Given the description of an element on the screen output the (x, y) to click on. 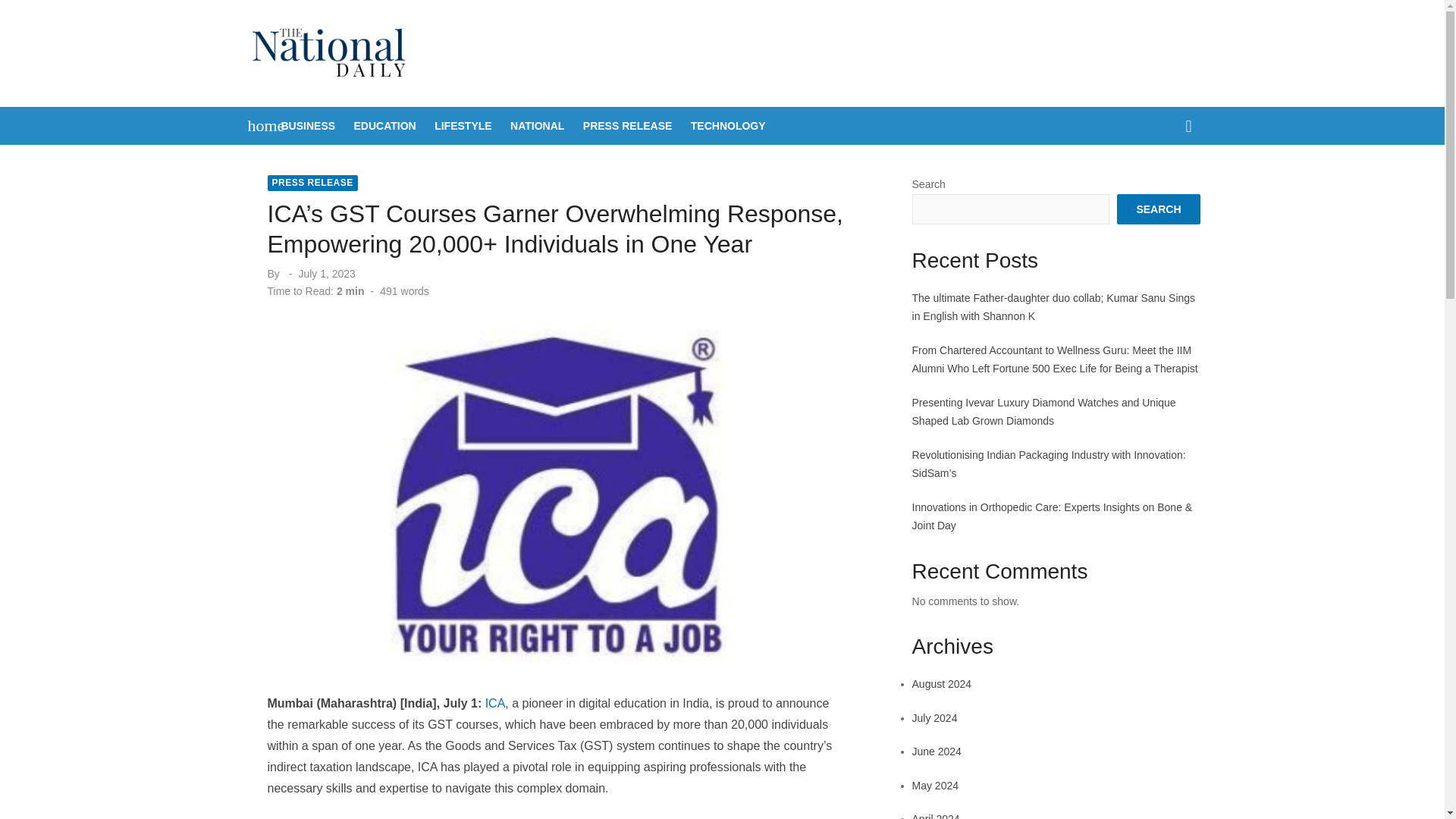
August 2024 (942, 684)
April 2024 (935, 816)
TECHNOLOGY (727, 125)
BUSINESS (307, 125)
LIFESTYLE (462, 125)
May 2024 (935, 785)
home (258, 125)
EDUCATION (384, 125)
PRESS RELEASE (311, 182)
June 2024 (936, 751)
NATIONAL (536, 125)
ICA (494, 703)
